Given the description of an element on the screen output the (x, y) to click on. 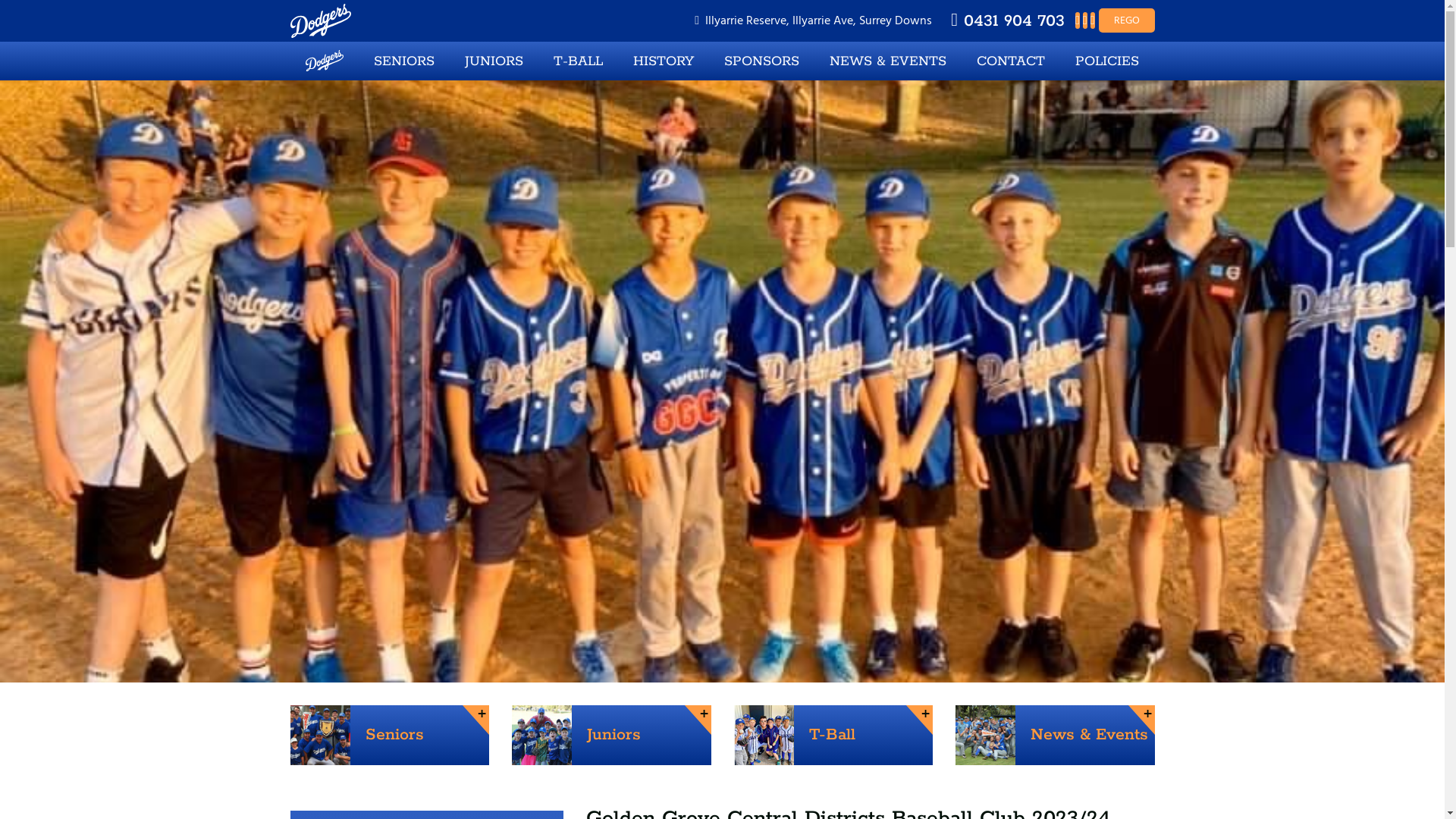
REGO Element type: text (1126, 20)
view more Element type: text (919, 719)
HISTORY Element type: text (663, 60)
NEWS & EVENTS Element type: text (887, 60)
view more Element type: text (475, 719)
T-BALL Element type: text (578, 60)
view more Element type: text (1141, 719)
0431 904 703 Element type: text (1007, 20)
view more Element type: text (697, 719)
JUNIORS Element type: text (493, 60)
SPONSORS Element type: text (761, 60)
POLICIES Element type: text (1107, 60)
CONTACT Element type: text (1010, 60)
SENIORS Element type: text (403, 60)
Illyarrie Reserve, Illyarrie Ave, Surrey Downs Element type: text (812, 20)
